Given the description of an element on the screen output the (x, y) to click on. 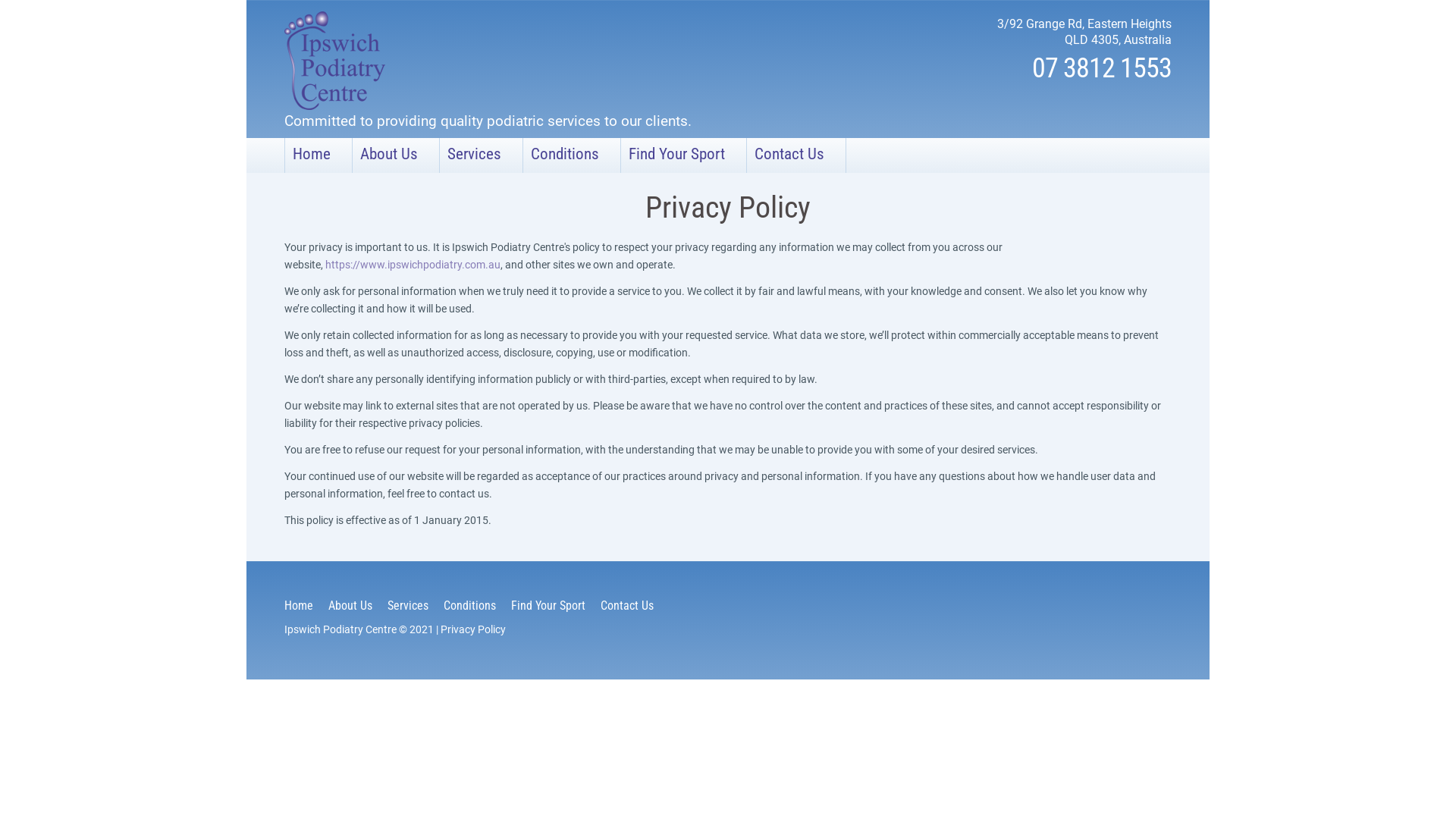
About Us Element type: text (350, 605)
Home Element type: text (298, 605)
Services Element type: text (480, 155)
Conditions Element type: text (469, 605)
About Us Element type: text (395, 155)
Services Element type: text (407, 605)
Find Your Sport Element type: text (683, 155)
Conditions Element type: text (571, 155)
Home Element type: text (318, 155)
Contact Us Element type: text (626, 605)
Privacy Policy Element type: text (472, 629)
Find Your Sport Element type: text (548, 605)
https://www.ipswichpodiatry.com.au Element type: text (412, 264)
Contact Us Element type: text (795, 155)
